Given the description of an element on the screen output the (x, y) to click on. 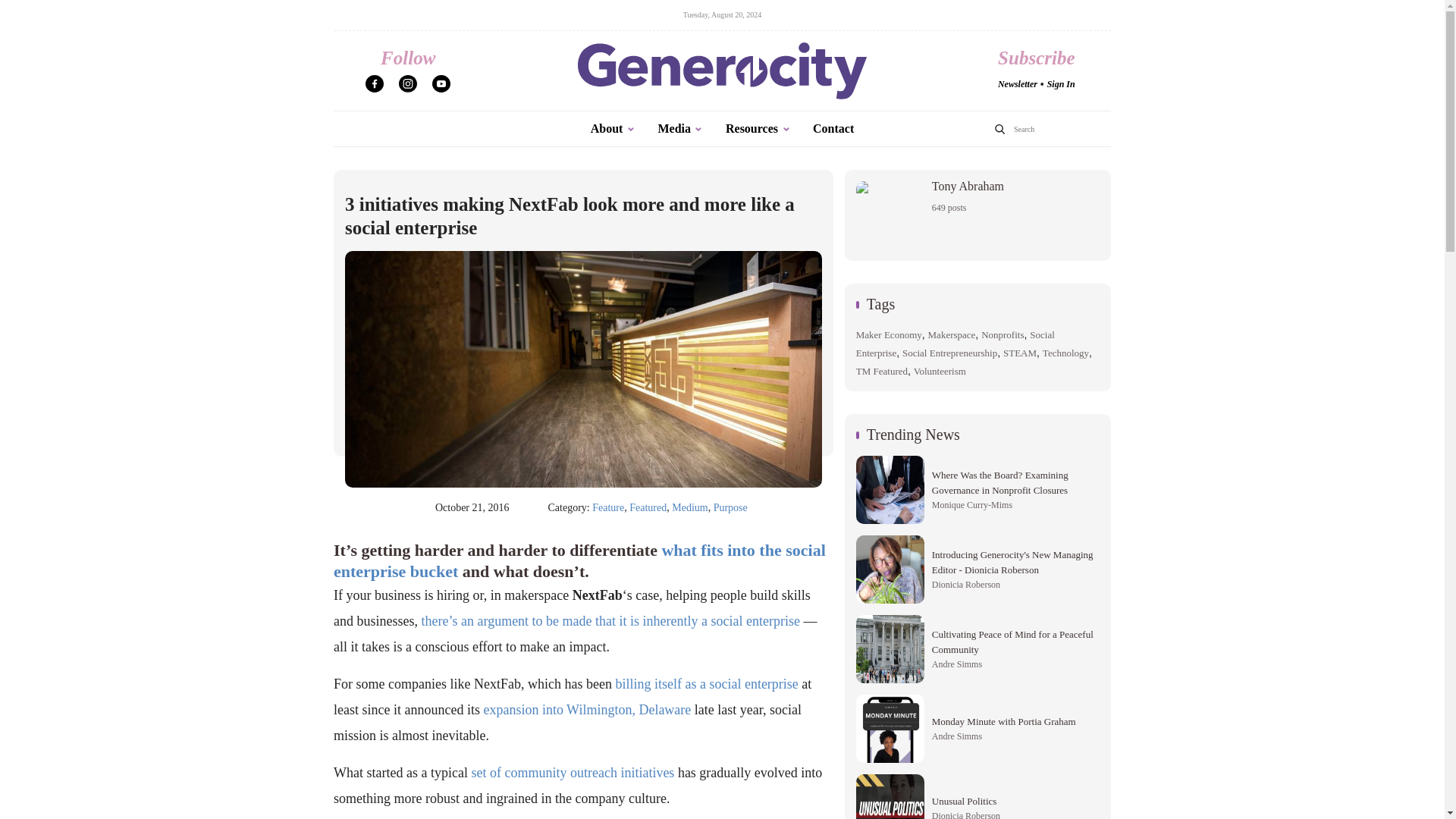
Feature (608, 507)
Newsletter (1016, 83)
About (612, 128)
Featured (647, 507)
billing itself as a social enterprise (705, 683)
Resources (757, 128)
Contact (832, 128)
Sign In (1060, 83)
expansion into Wilmington, Delaware (586, 709)
Media (680, 128)
